Given the description of an element on the screen output the (x, y) to click on. 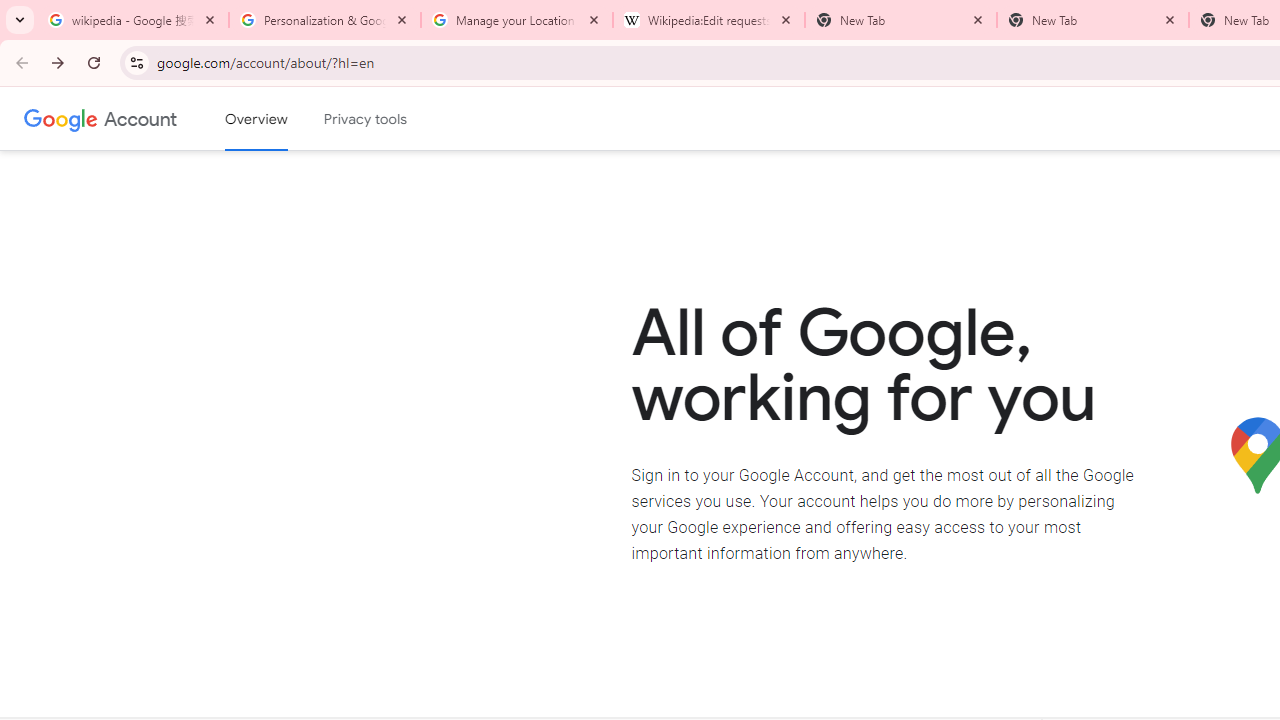
New Tab (1093, 20)
